Given the description of an element on the screen output the (x, y) to click on. 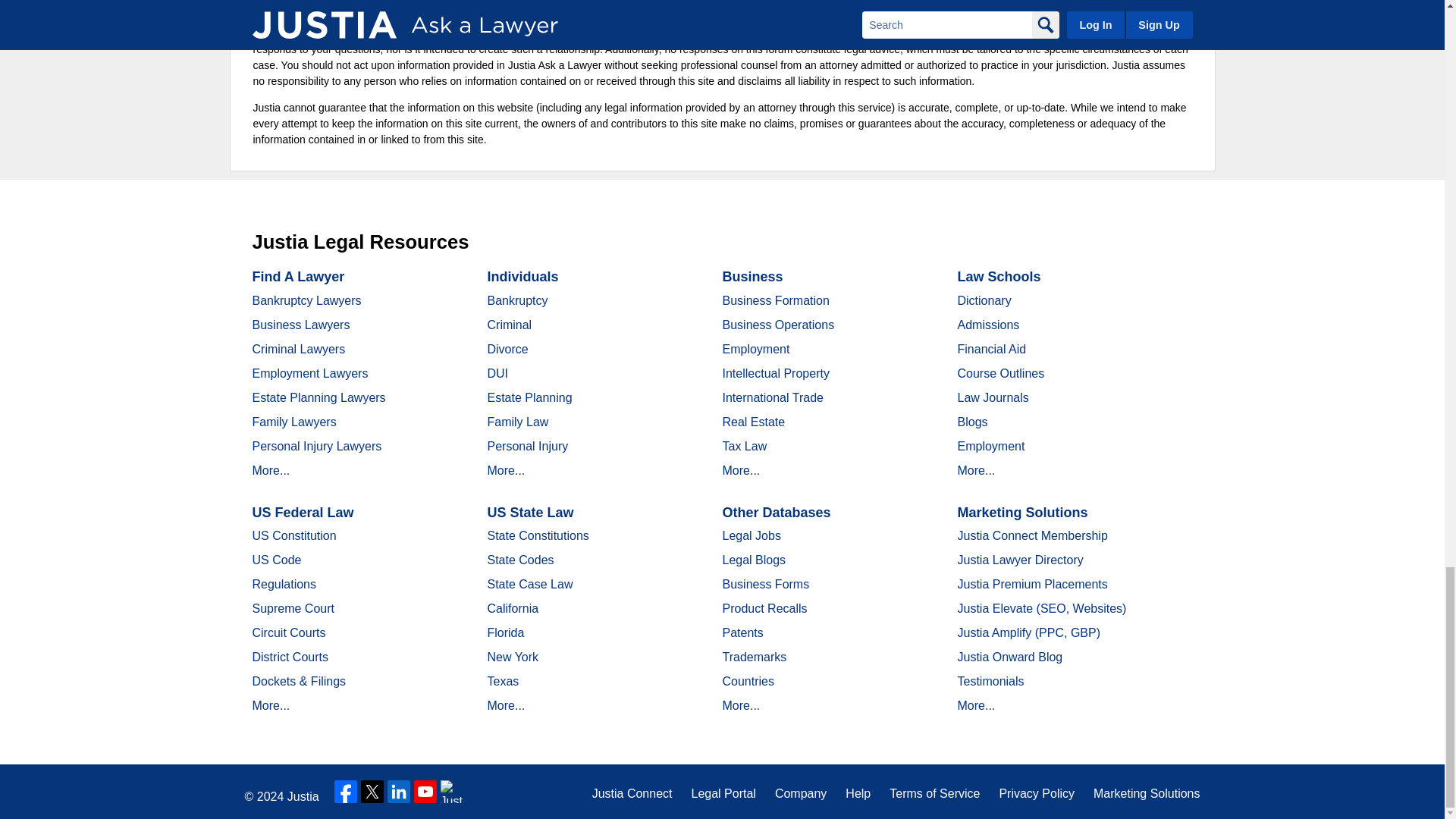
Twitter (372, 791)
LinkedIn (398, 791)
Justia Lawyer Directory (452, 791)
Facebook (345, 791)
YouTube (424, 791)
